Given the description of an element on the screen output the (x, y) to click on. 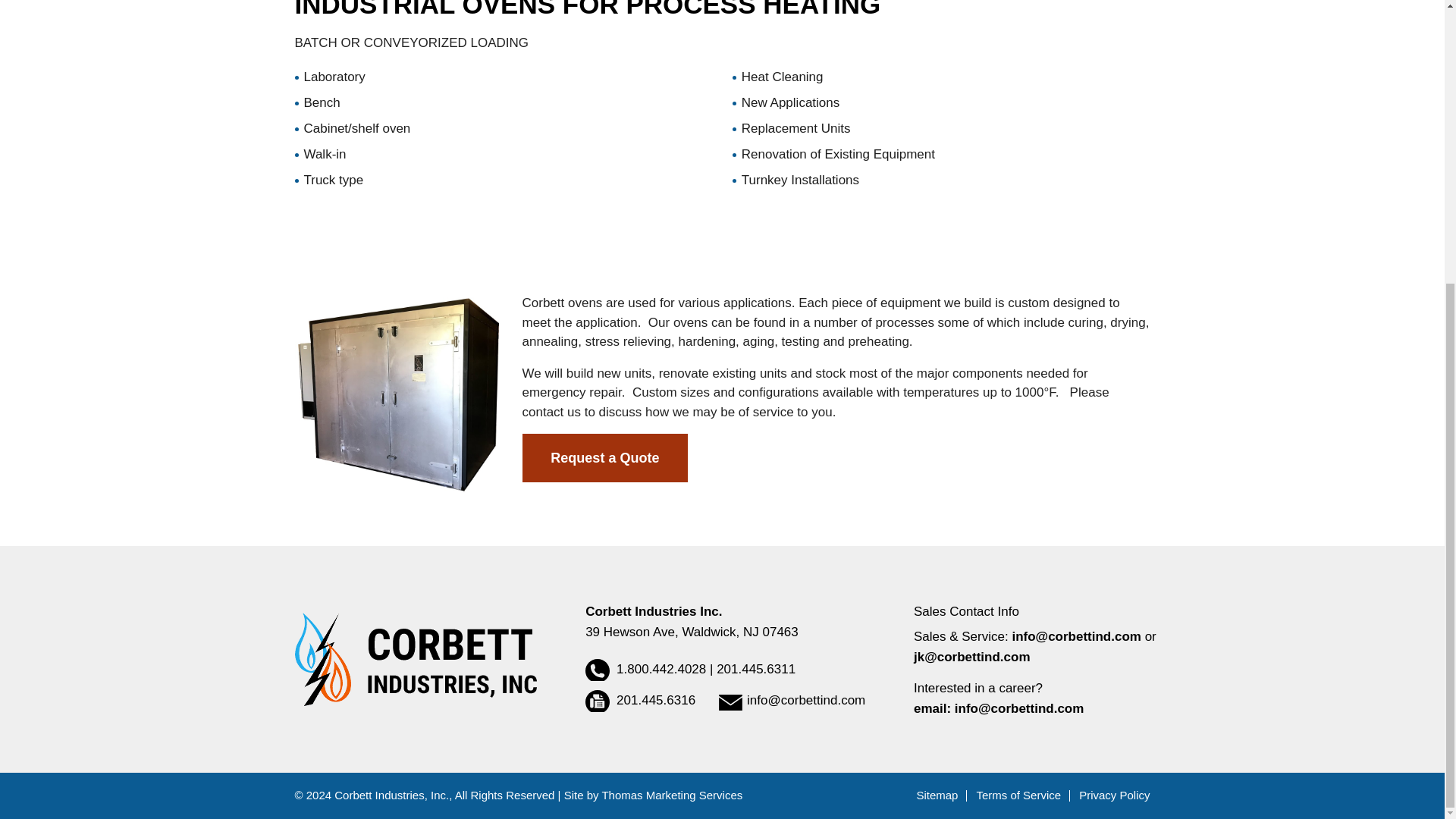
Thomas Marketing Services (671, 794)
Sitemap (936, 794)
Corbett Industries, Inc. (391, 794)
Corbett Industries, Inc. (414, 658)
201.445.6316 (640, 699)
1.800.442.4028 (645, 668)
Request a Quote (604, 458)
201.445.6311 (755, 668)
